Given the description of an element on the screen output the (x, y) to click on. 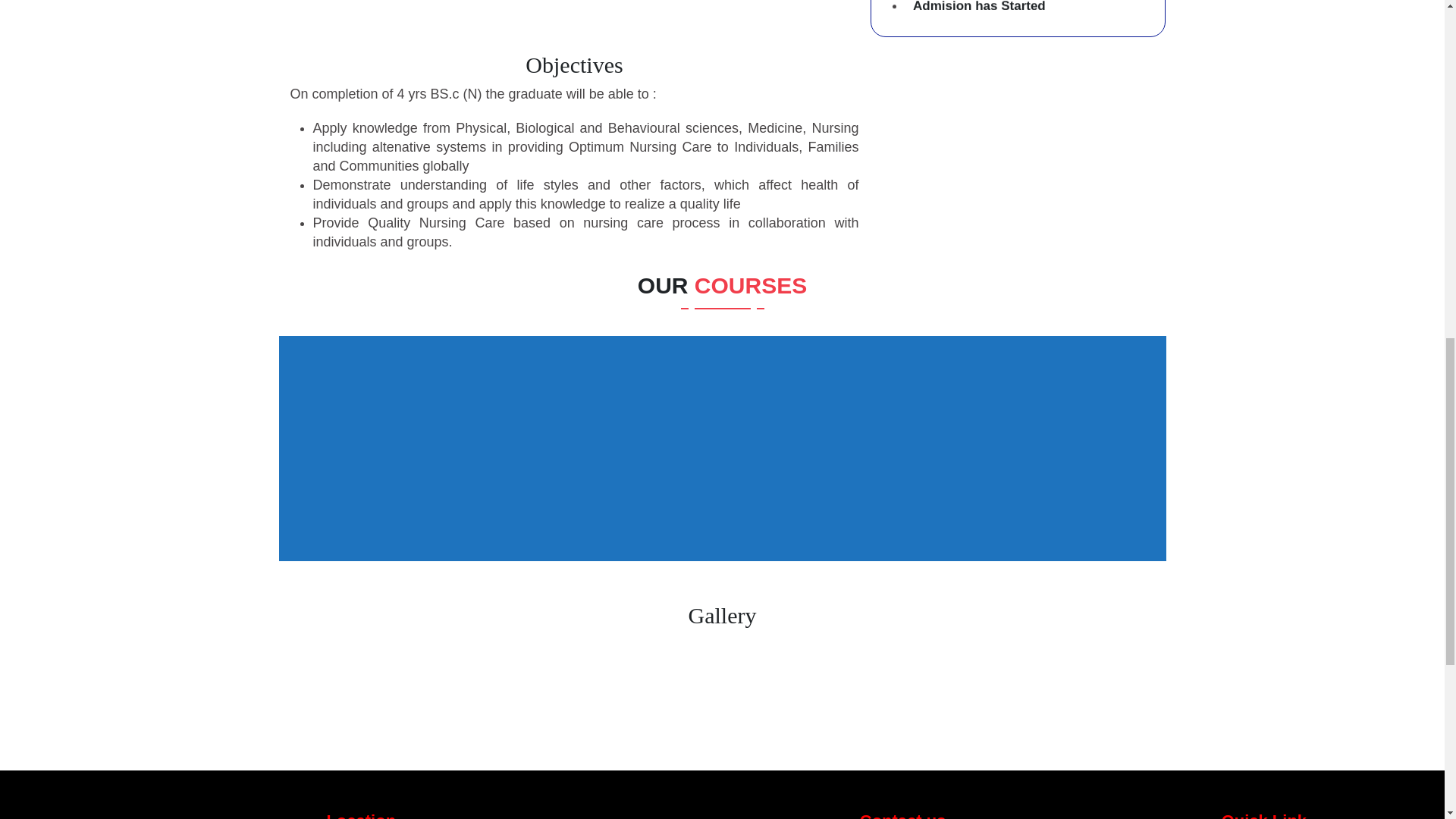
Admision has Started (978, 67)
Admision has Started (1029, 61)
Pay Your Fees Online (977, 15)
Pay Your Fees Online (1029, 27)
Pay Your Fees Online (1029, 9)
